Given the description of an element on the screen output the (x, y) to click on. 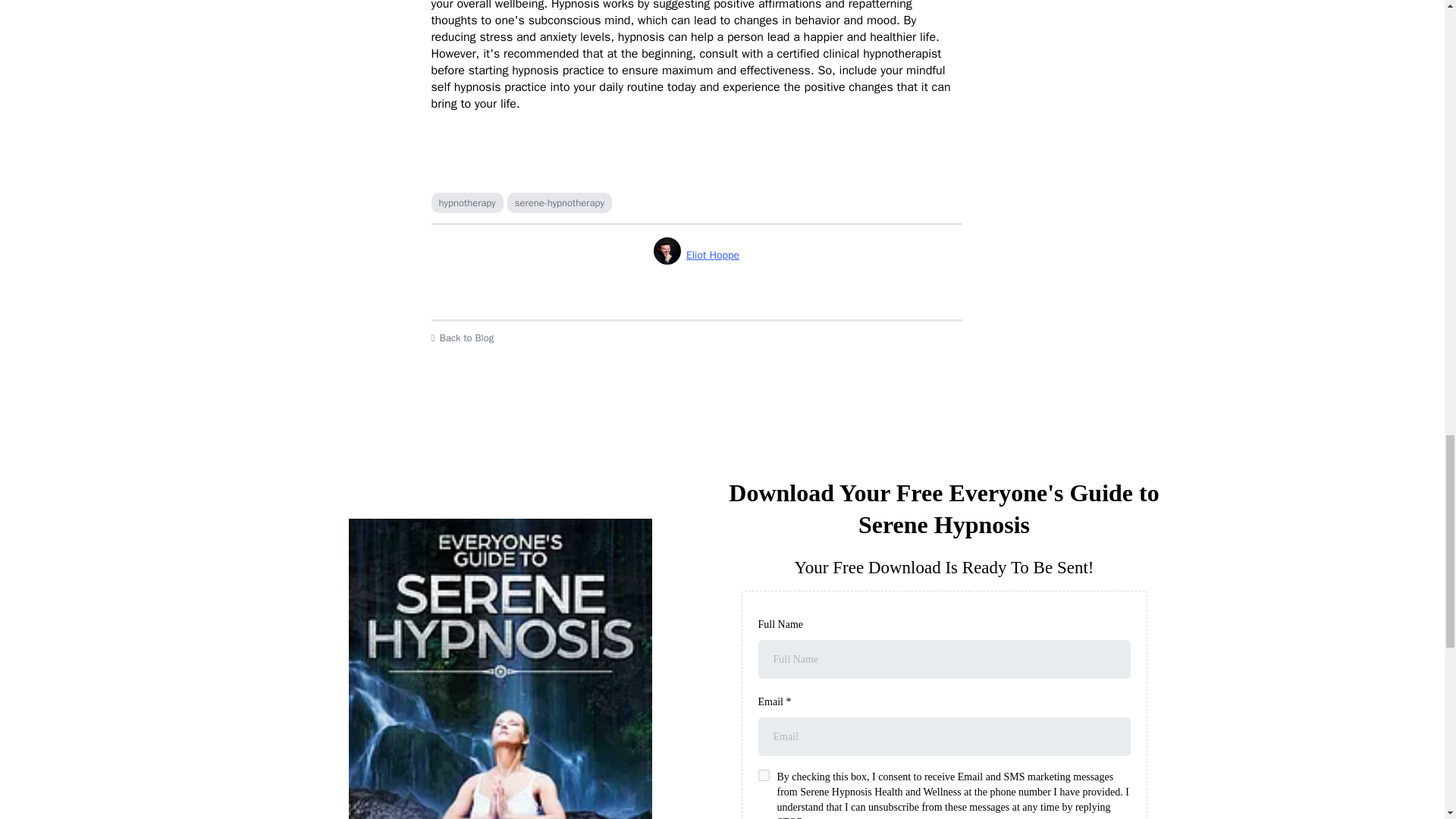
Eliot Hoppe (696, 255)
Back to Blog (695, 337)
